Given the description of an element on the screen output the (x, y) to click on. 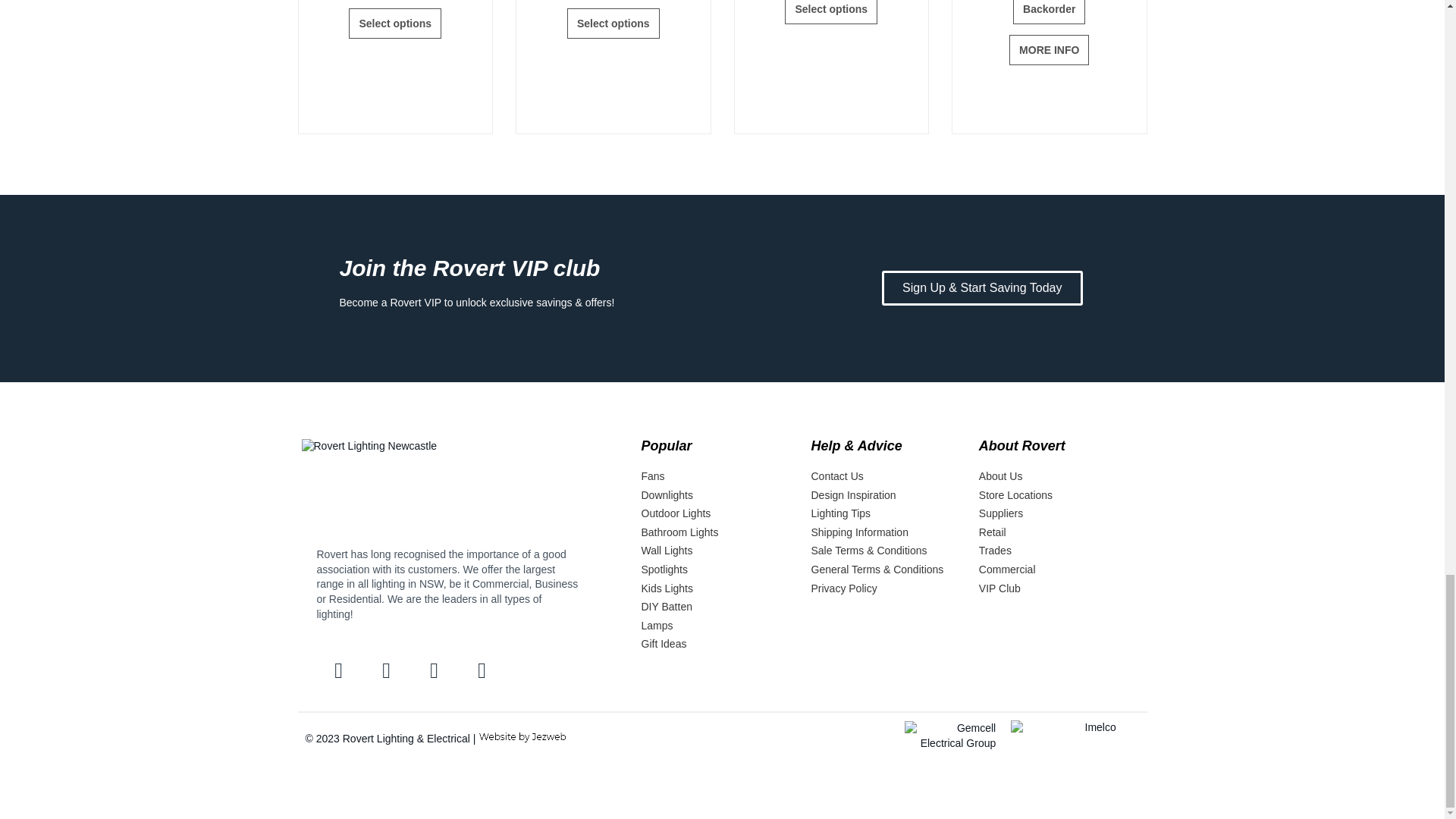
web design newcastle (522, 737)
